Given the description of an element on the screen output the (x, y) to click on. 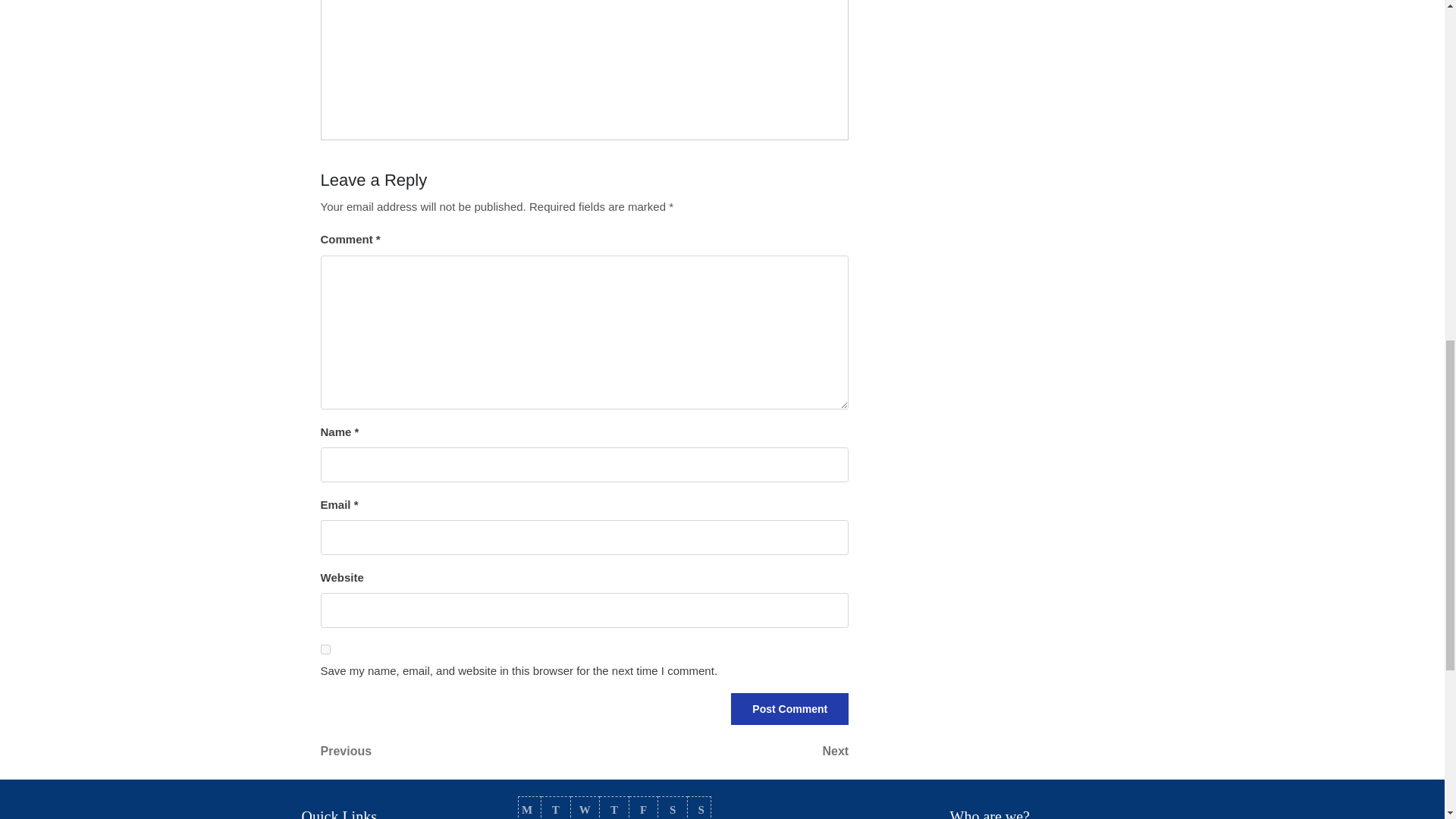
yes (325, 649)
Wednesday (451, 751)
Thursday (584, 807)
Post Comment (613, 807)
Monday (789, 708)
Tuesday (529, 807)
Post Comment (716, 751)
